Given the description of an element on the screen output the (x, y) to click on. 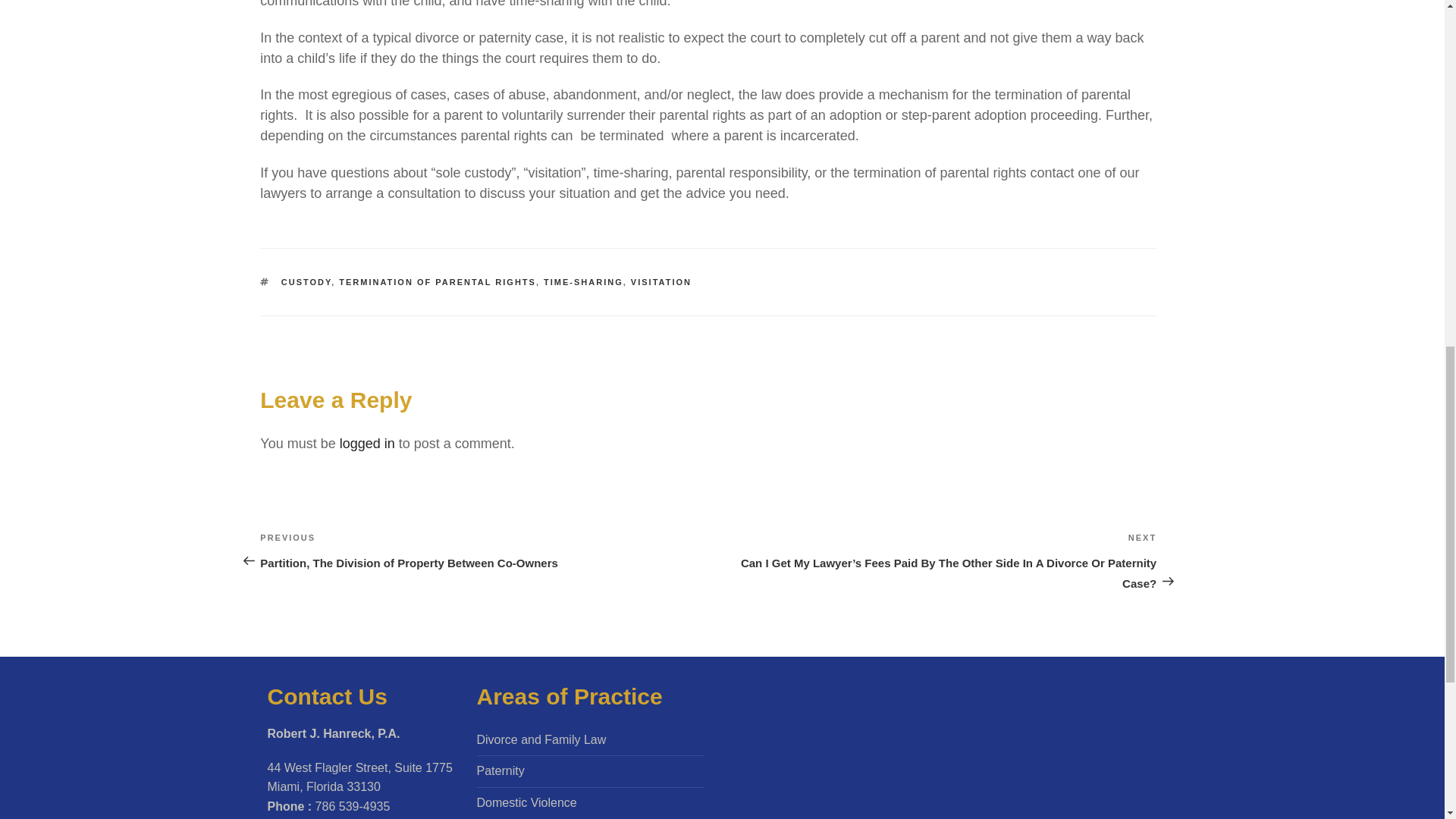
Paternity (500, 770)
logged in (366, 443)
VISITATION (660, 281)
TIME-SHARING (583, 281)
CUSTODY (306, 281)
Divorce and Family Law (540, 739)
TERMINATION OF PARENTAL RIGHTS (437, 281)
Domestic Violence (526, 802)
